Given the description of an element on the screen output the (x, y) to click on. 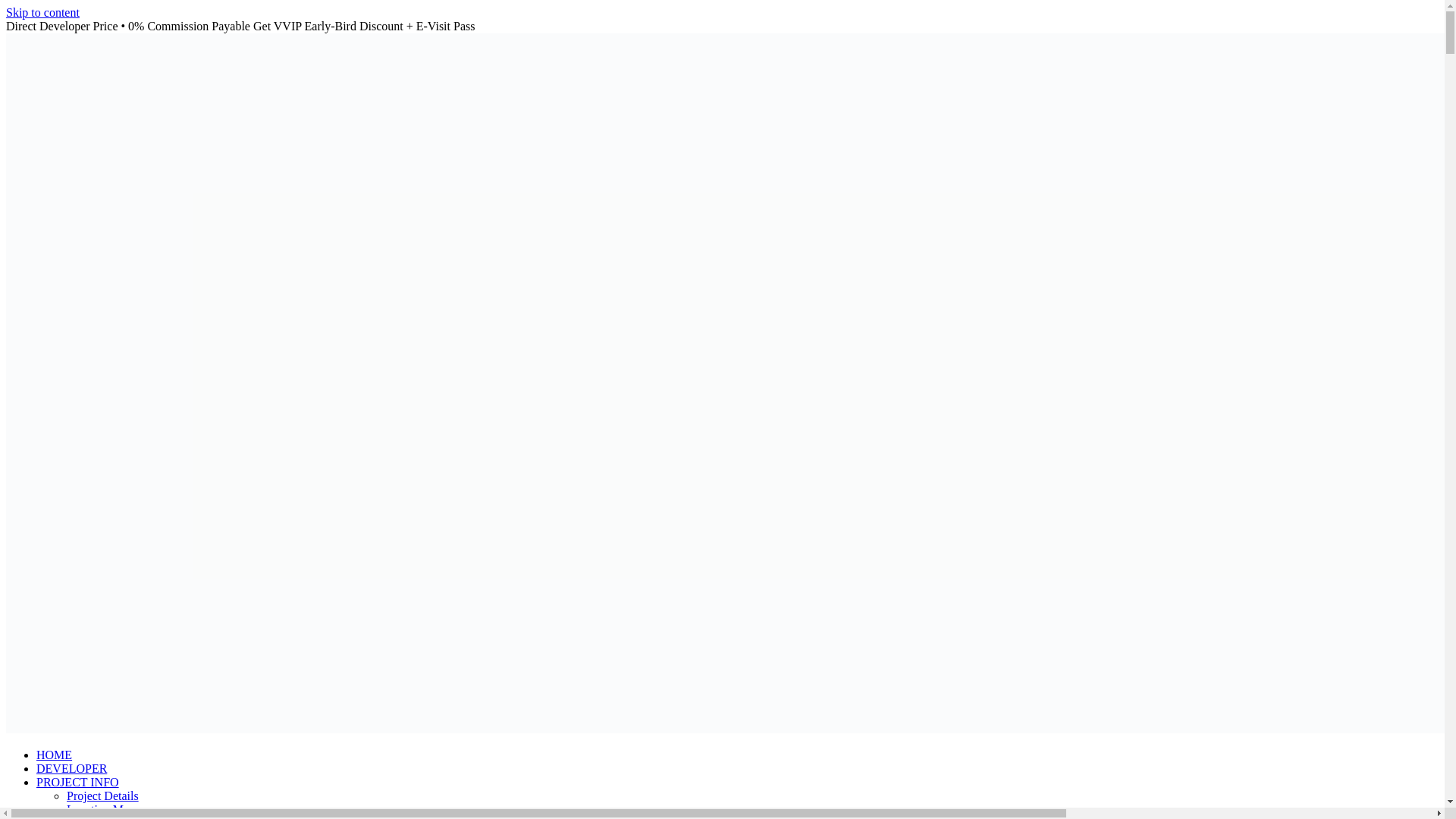
Location Map (100, 809)
PROJECT INFO (77, 781)
Project Details (102, 795)
HOME (53, 754)
Skip to content (42, 11)
DEVELOPER (71, 768)
Skip to content (42, 11)
Site Plan (88, 817)
